Given the description of an element on the screen output the (x, y) to click on. 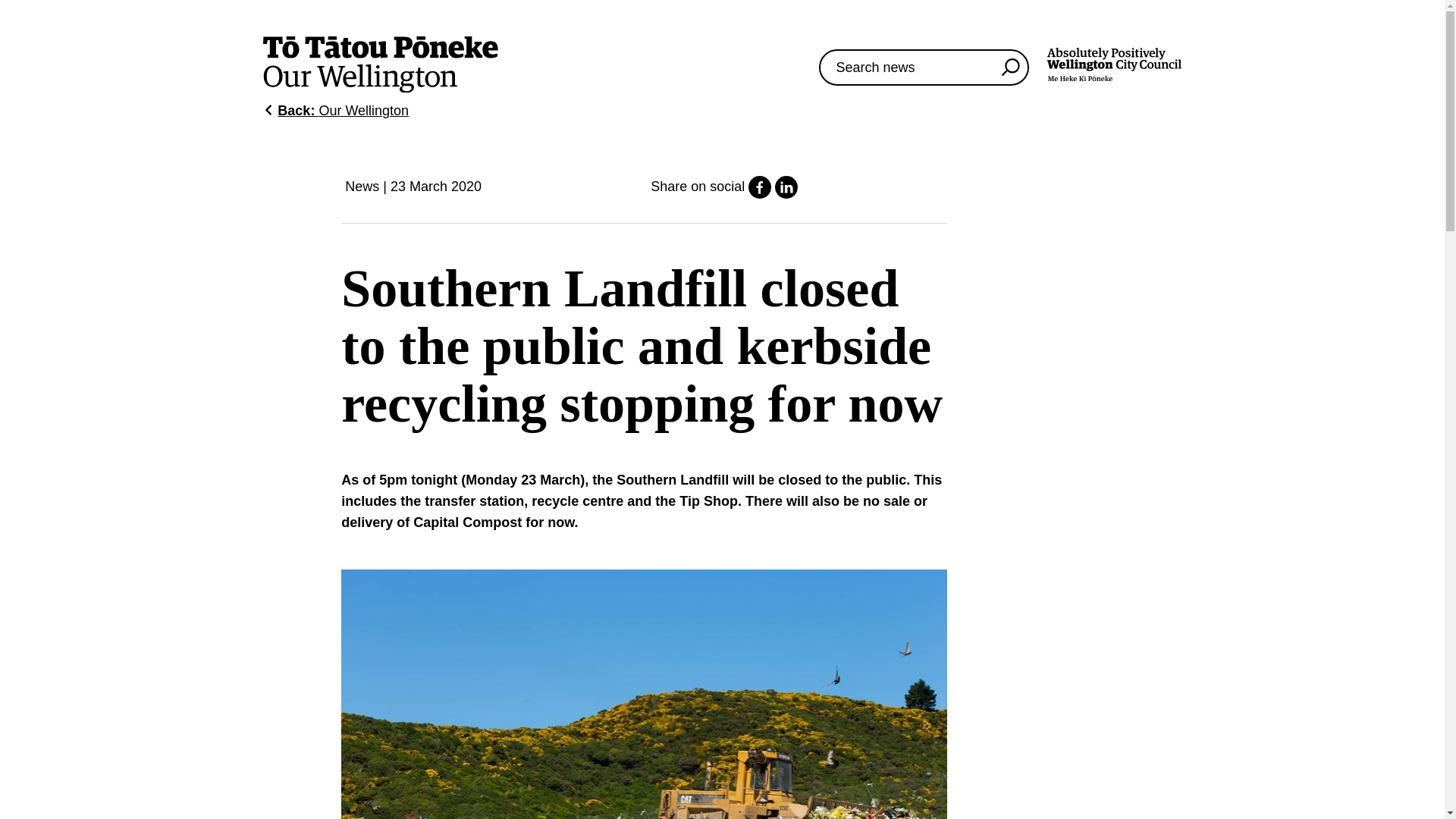
Share this article on Facebook (759, 193)
Share this article on Linkedin (1113, 66)
Back: Our Wellington (785, 193)
Search online information (336, 110)
Wellington City Council (923, 67)
Search news (1113, 64)
Search news (1009, 67)
Skip to main content (1009, 67)
